Given the description of an element on the screen output the (x, y) to click on. 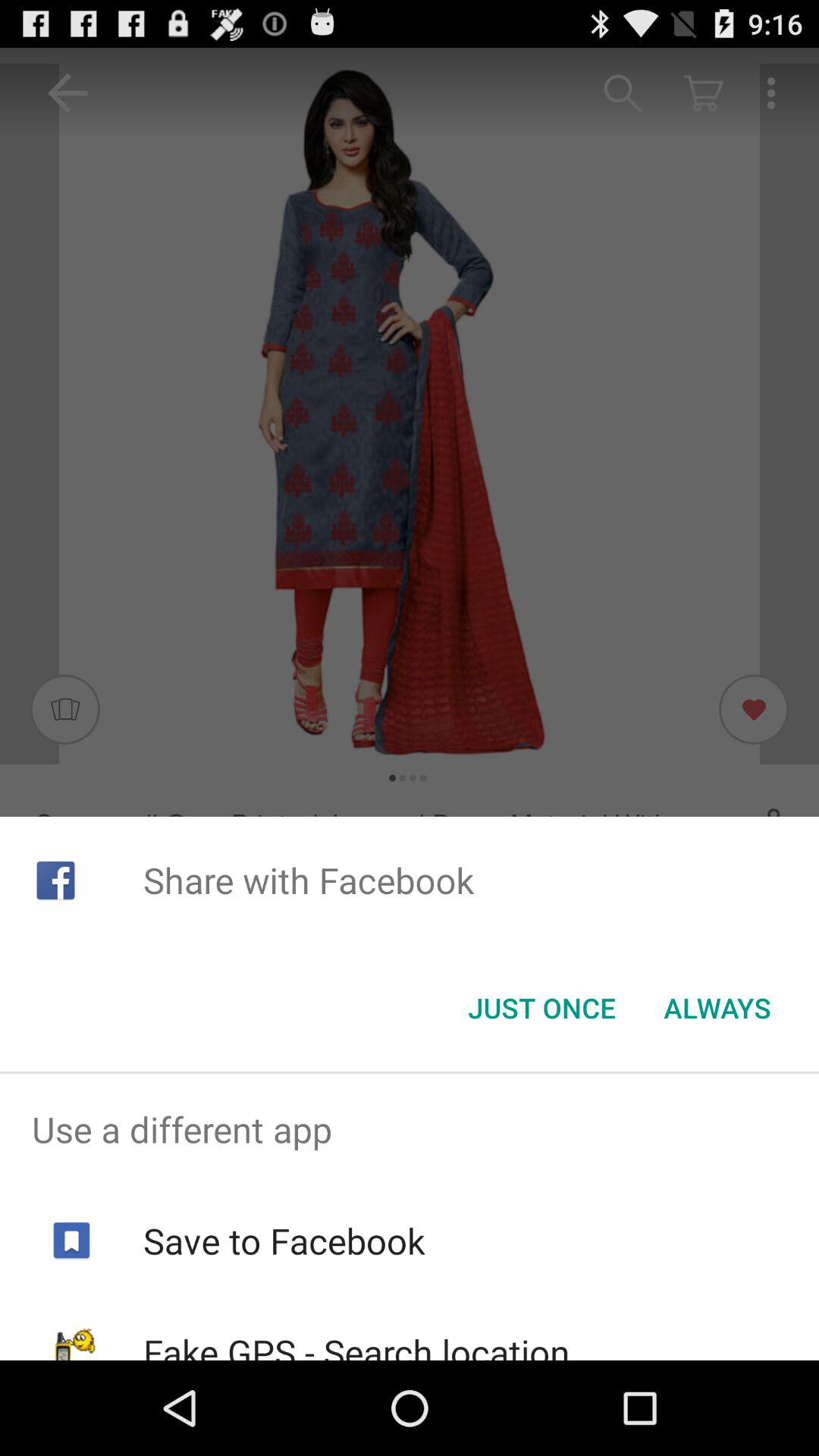
turn on icon above fake gps search (284, 1240)
